Given the description of an element on the screen output the (x, y) to click on. 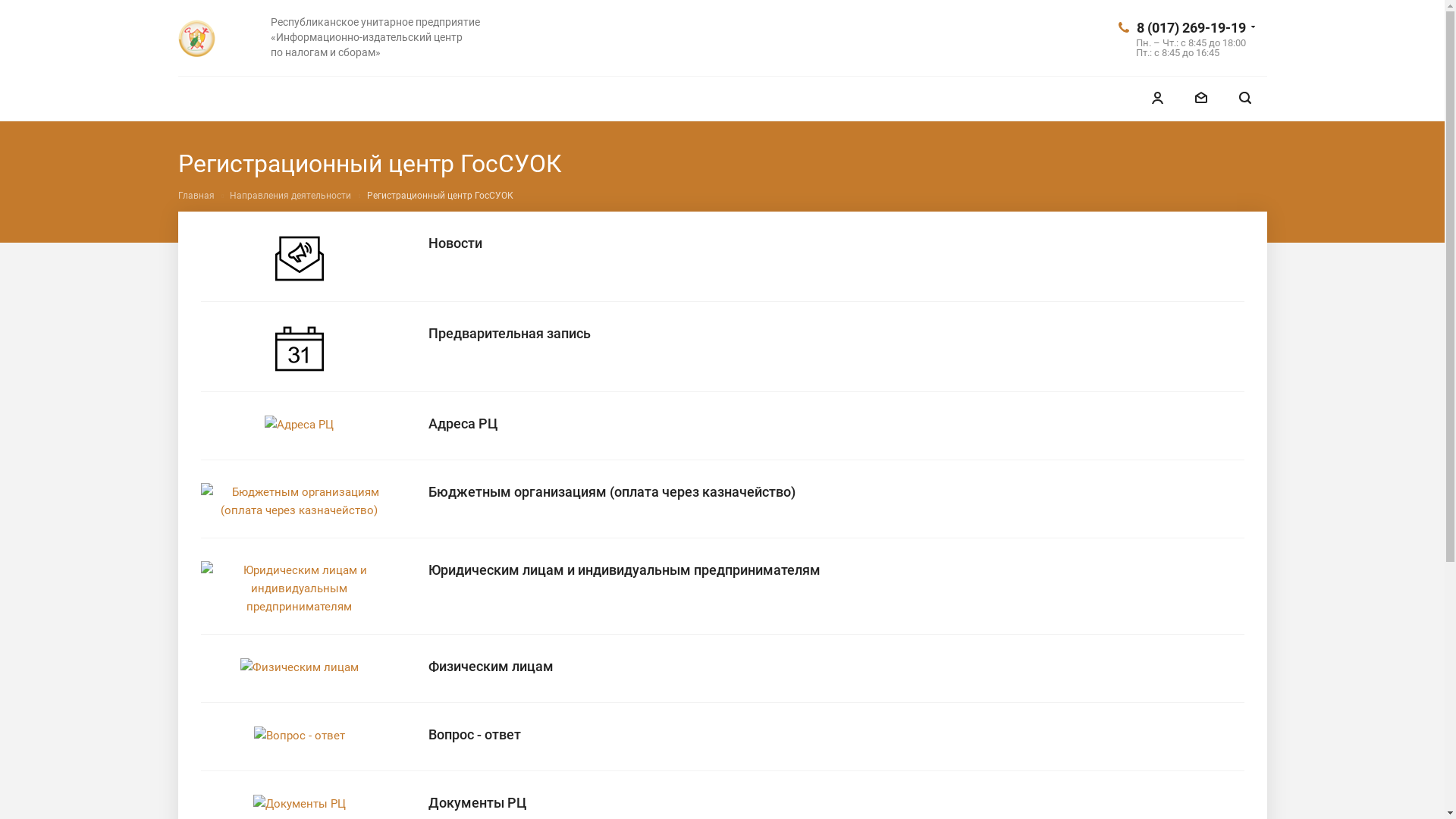
8 (017) 269-19-19 Element type: text (1190, 27)
